Given the description of an element on the screen output the (x, y) to click on. 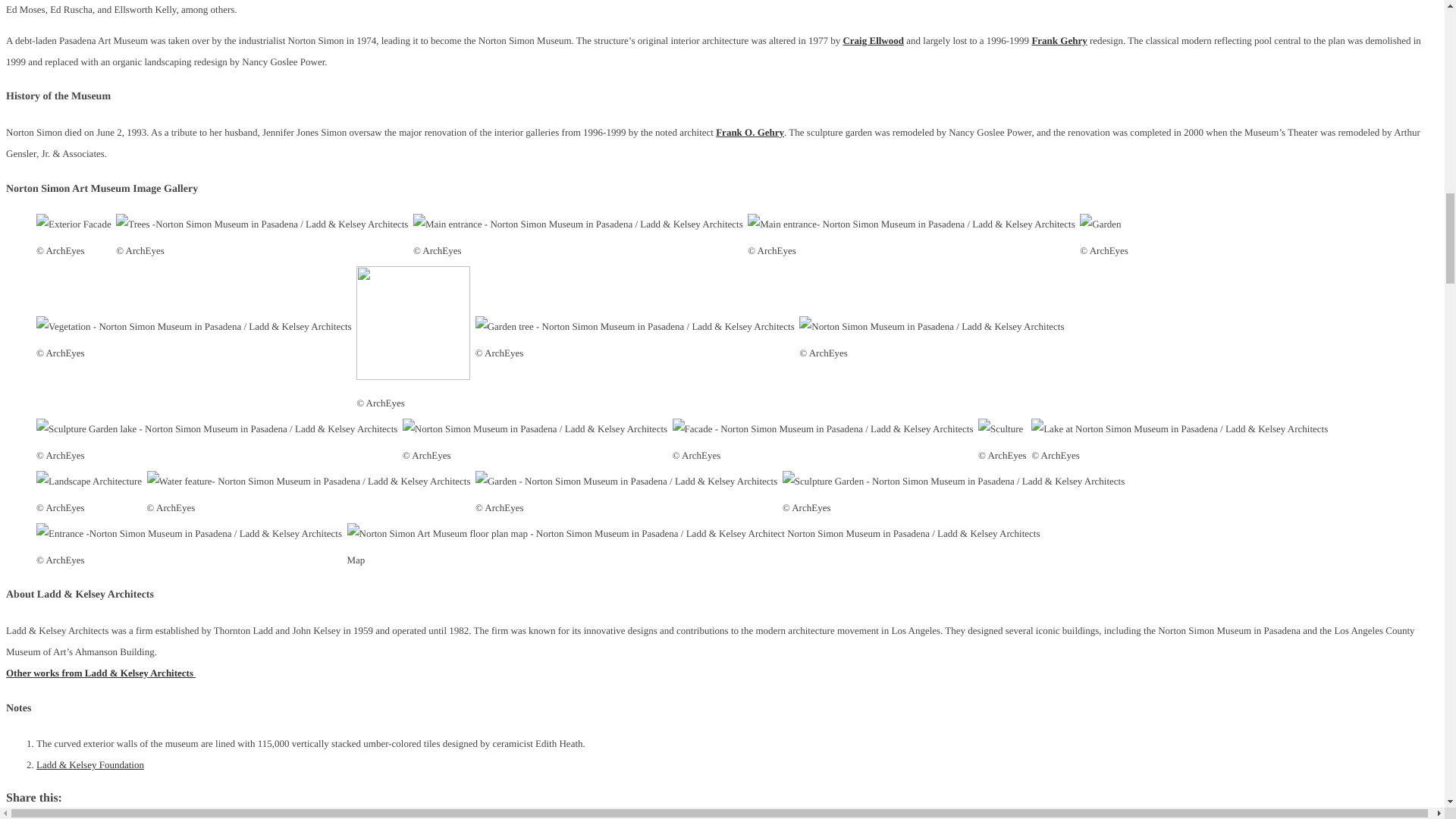
Frank O. Gehry (750, 132)
Frank Gehry (1058, 40)
Craig Ellwood (873, 40)
